Given the description of an element on the screen output the (x, y) to click on. 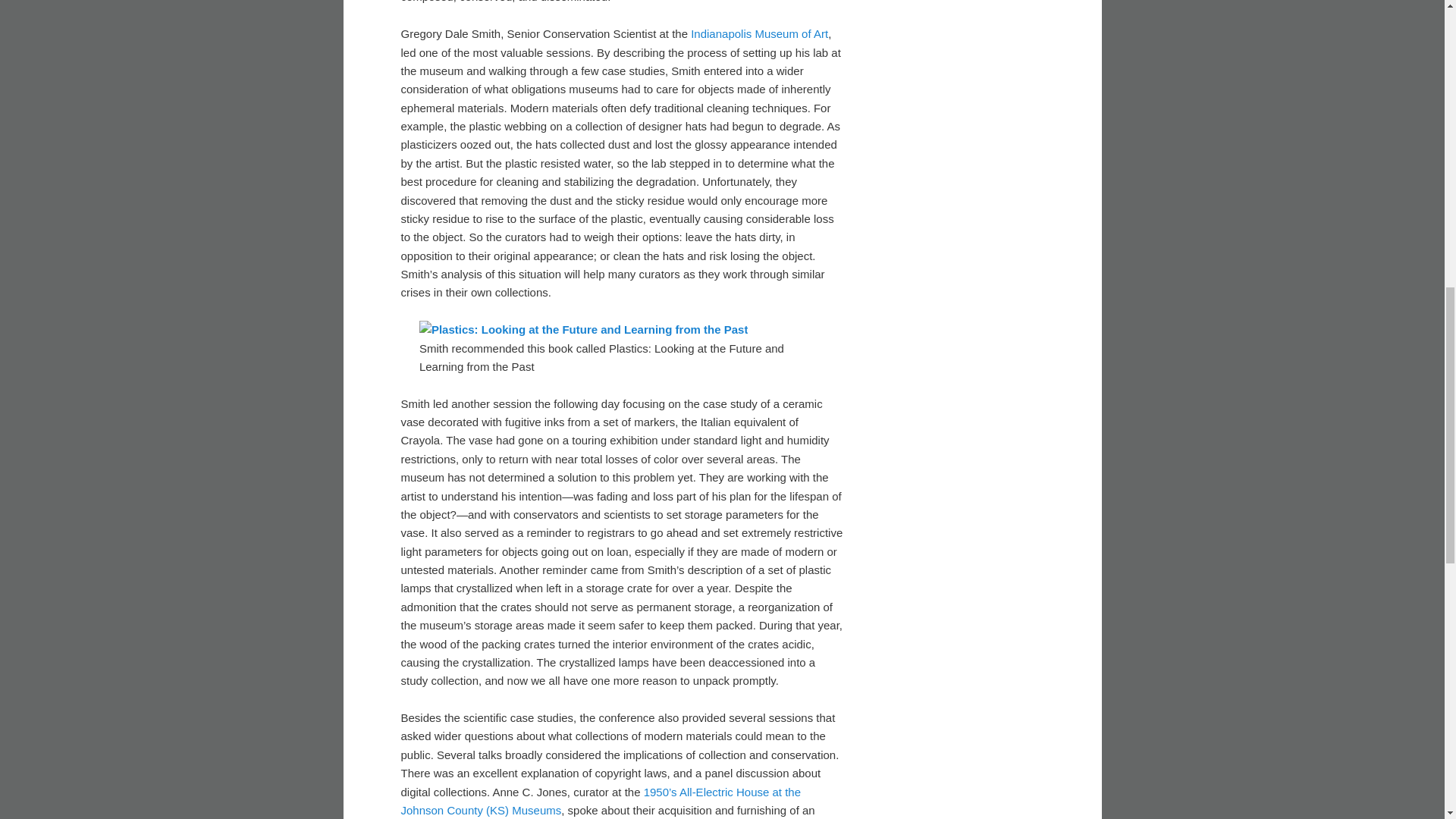
Indianapolis Museum of Art (759, 33)
